Given the description of an element on the screen output the (x, y) to click on. 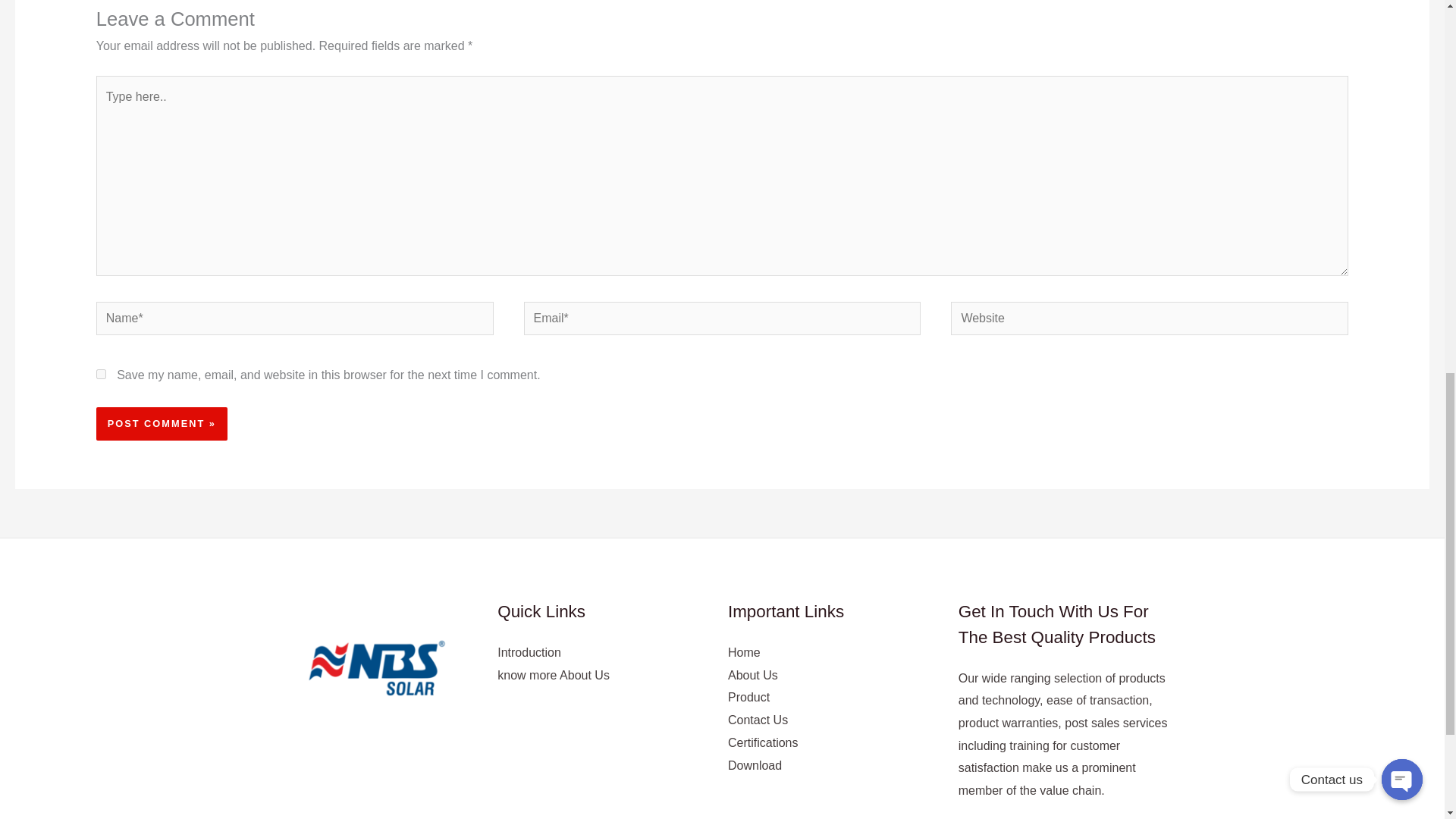
yes (101, 374)
Contact Us (757, 719)
know more About Us (553, 675)
Product (749, 697)
About Us (752, 675)
Certifications (762, 742)
Home (744, 652)
Introduction (528, 652)
